Given the description of an element on the screen output the (x, y) to click on. 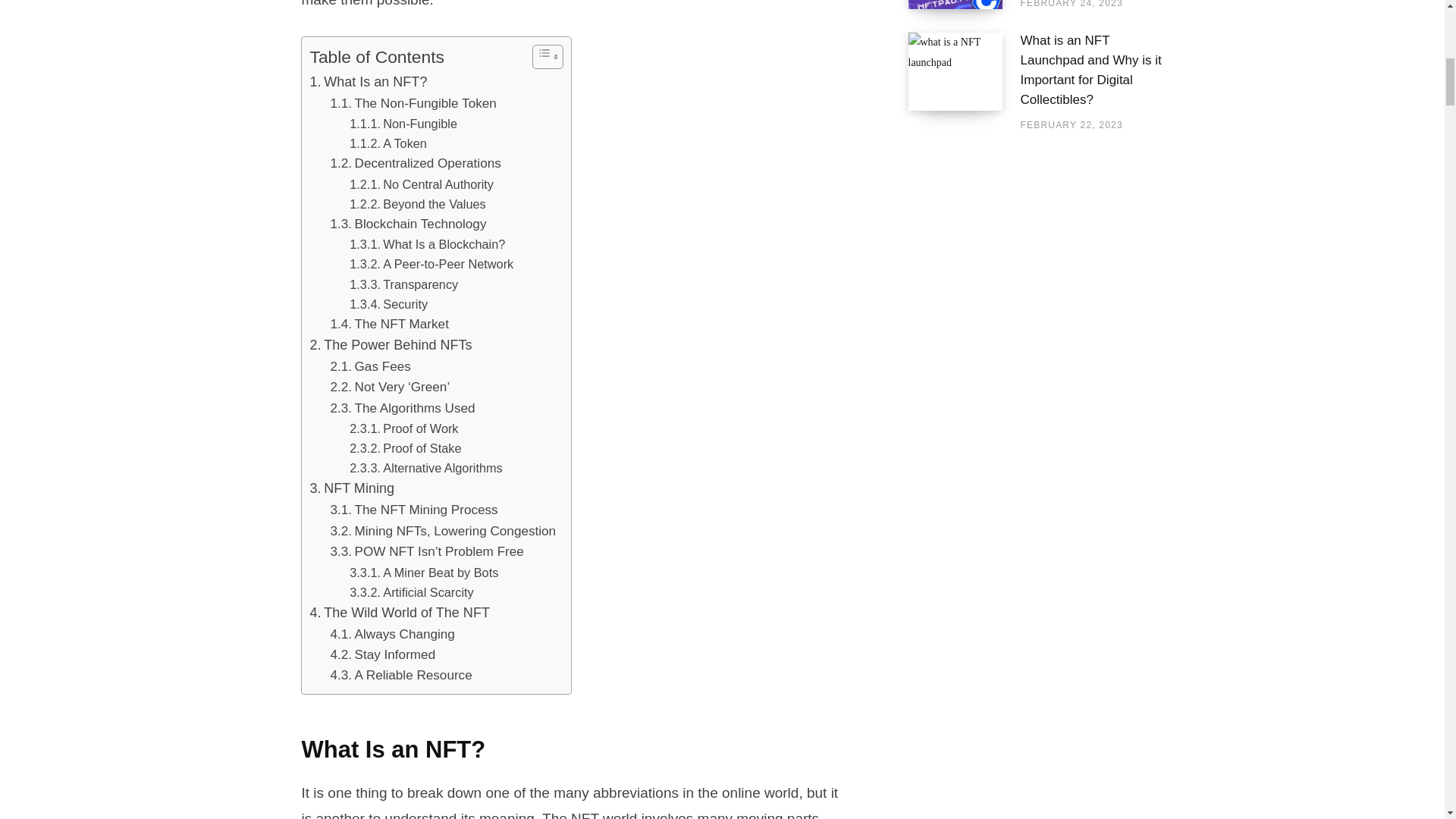
The Algorithms Used (403, 408)
Decentralized Operations (415, 163)
NFT Mining (351, 488)
What Is a Blockchain? (427, 243)
The Power Behind NFTs (389, 345)
A Token (387, 143)
Transparency (403, 284)
Alternative Algorithms (425, 467)
Non-Fungible (403, 123)
The Non-Fungible Token (413, 103)
Gas Fees (370, 366)
Decentralized Operations (415, 163)
The NFT Market (389, 323)
Beyond the Values (416, 203)
Proof of Stake (405, 447)
